Given the description of an element on the screen output the (x, y) to click on. 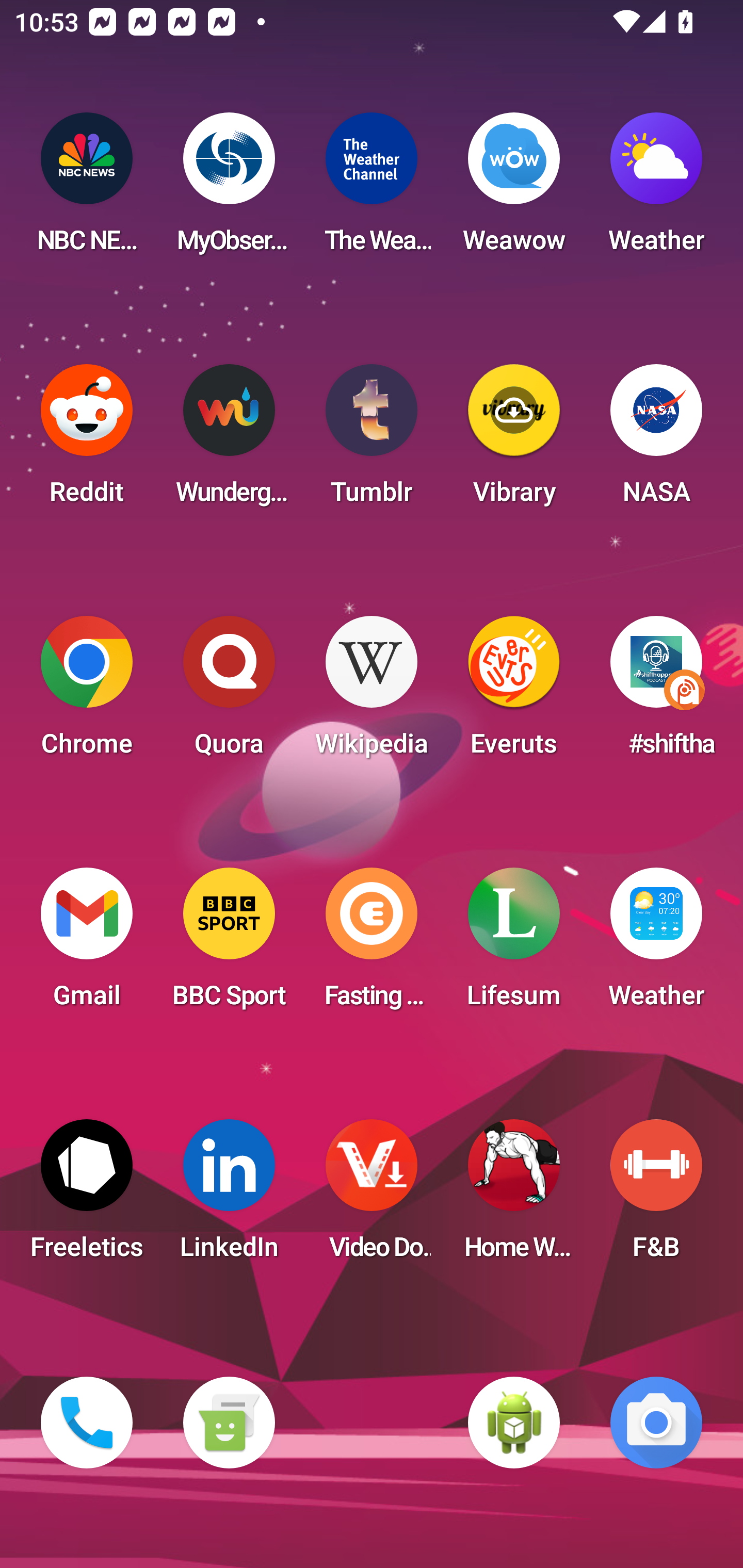
NBC NEWS (86, 188)
MyObservatory (228, 188)
The Weather Channel (371, 188)
Weawow (513, 188)
Weather (656, 188)
Reddit (86, 440)
Wunderground (228, 440)
Tumblr (371, 440)
Vibrary (513, 440)
NASA (656, 440)
Chrome (86, 692)
Quora (228, 692)
Wikipedia (371, 692)
Everuts (513, 692)
#shifthappens in the Digital Workplace Podcast (656, 692)
Gmail (86, 943)
BBC Sport (228, 943)
Fasting Coach (371, 943)
Lifesum (513, 943)
Weather (656, 943)
Freeletics (86, 1195)
LinkedIn (228, 1195)
Video Downloader & Ace Player (371, 1195)
Home Workout (513, 1195)
F&B (656, 1195)
Phone (86, 1422)
Messaging (228, 1422)
WebView Browser Tester (513, 1422)
Camera (656, 1422)
